Given the description of an element on the screen output the (x, y) to click on. 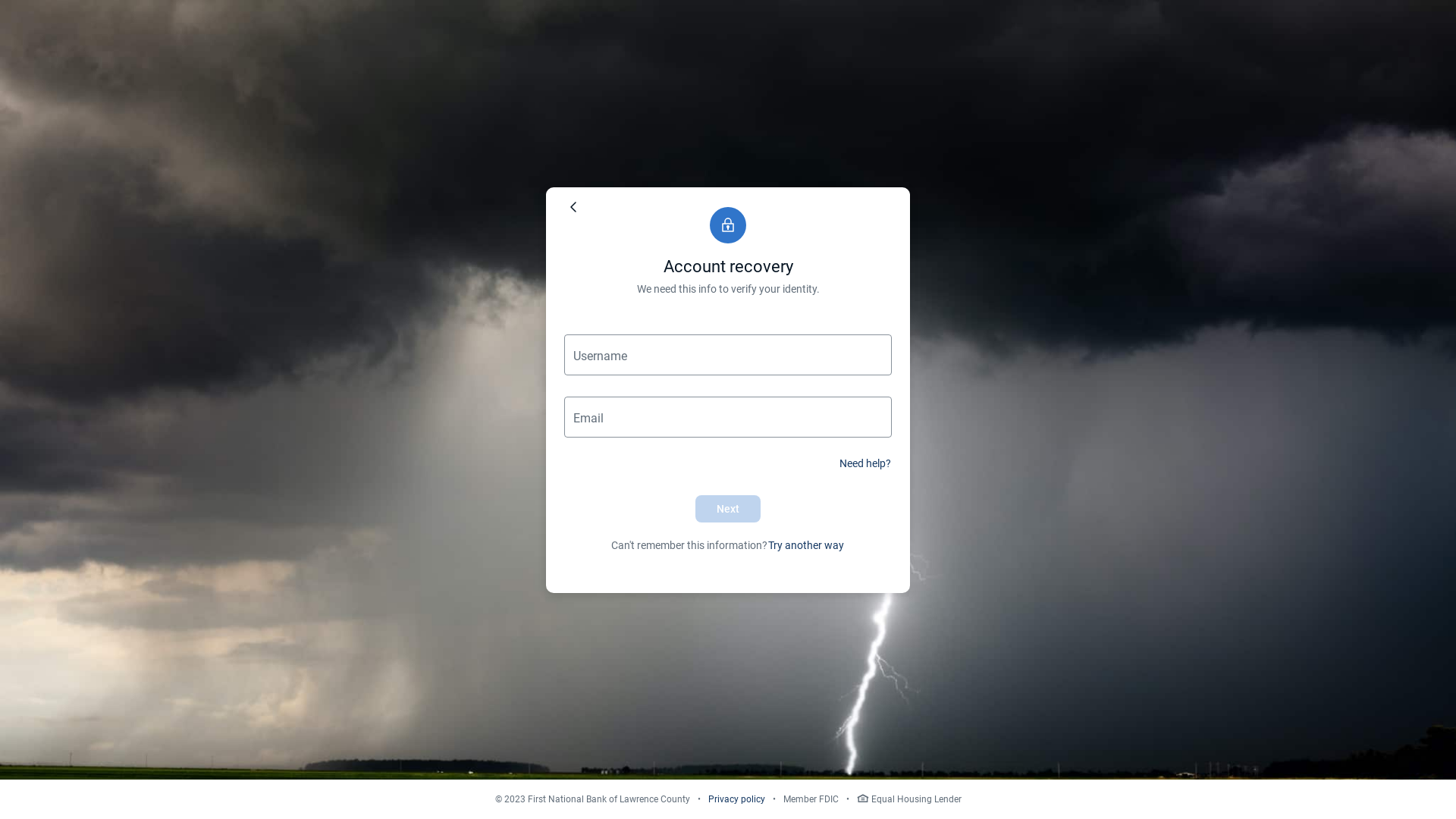
Username Element type: hover (727, 353)
Email Element type: hover (727, 415)
